Given the description of an element on the screen output the (x, y) to click on. 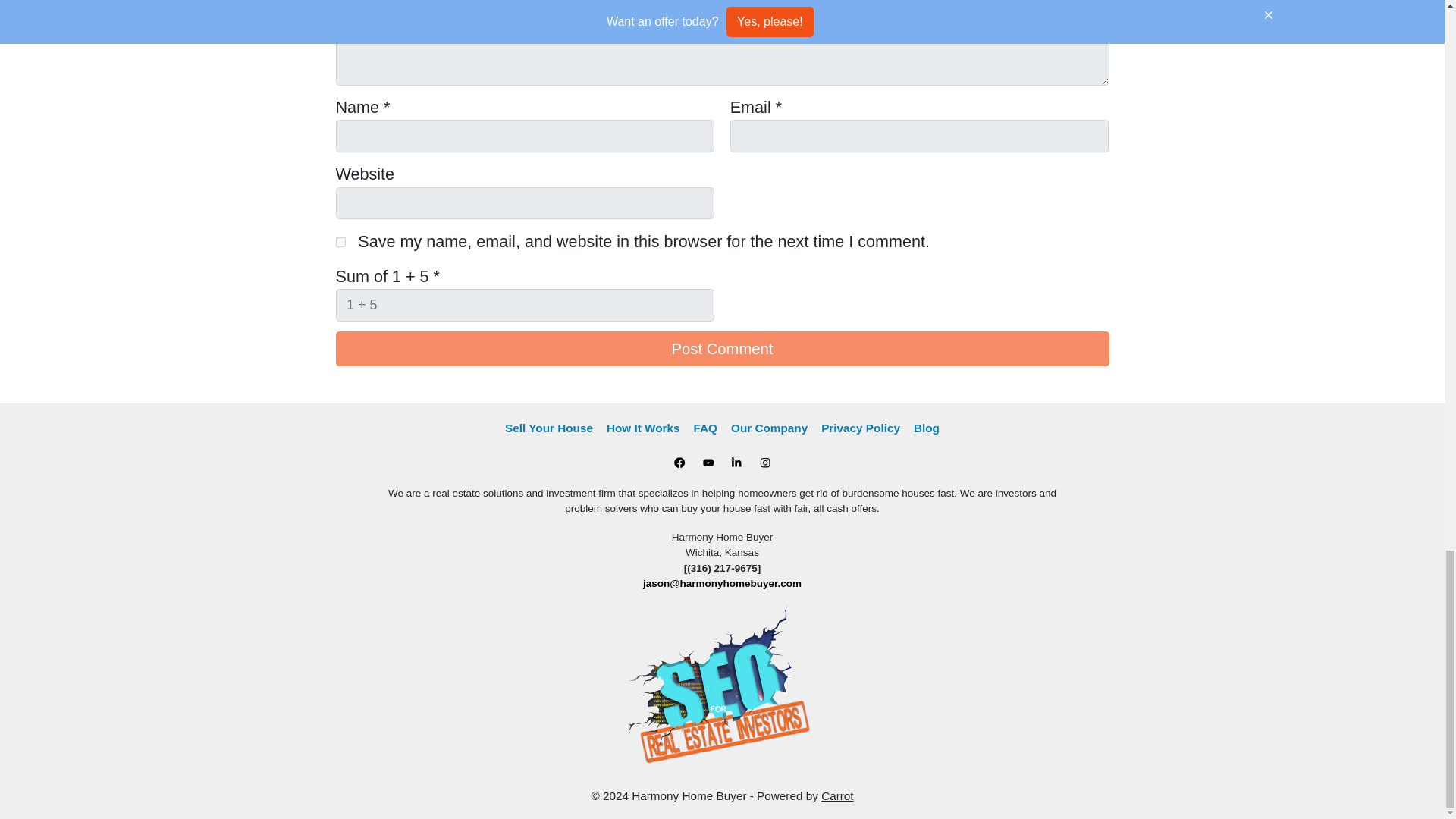
Facebook (678, 463)
Post Comment (721, 348)
yes (339, 242)
FAQ (705, 427)
YouTube (707, 463)
Sell Your House (548, 427)
Post Comment (721, 348)
How It Works (643, 427)
Blog (926, 427)
Our Company (768, 427)
Privacy Policy (860, 427)
Instagram (764, 463)
LinkedIn (735, 463)
